Given the description of an element on the screen output the (x, y) to click on. 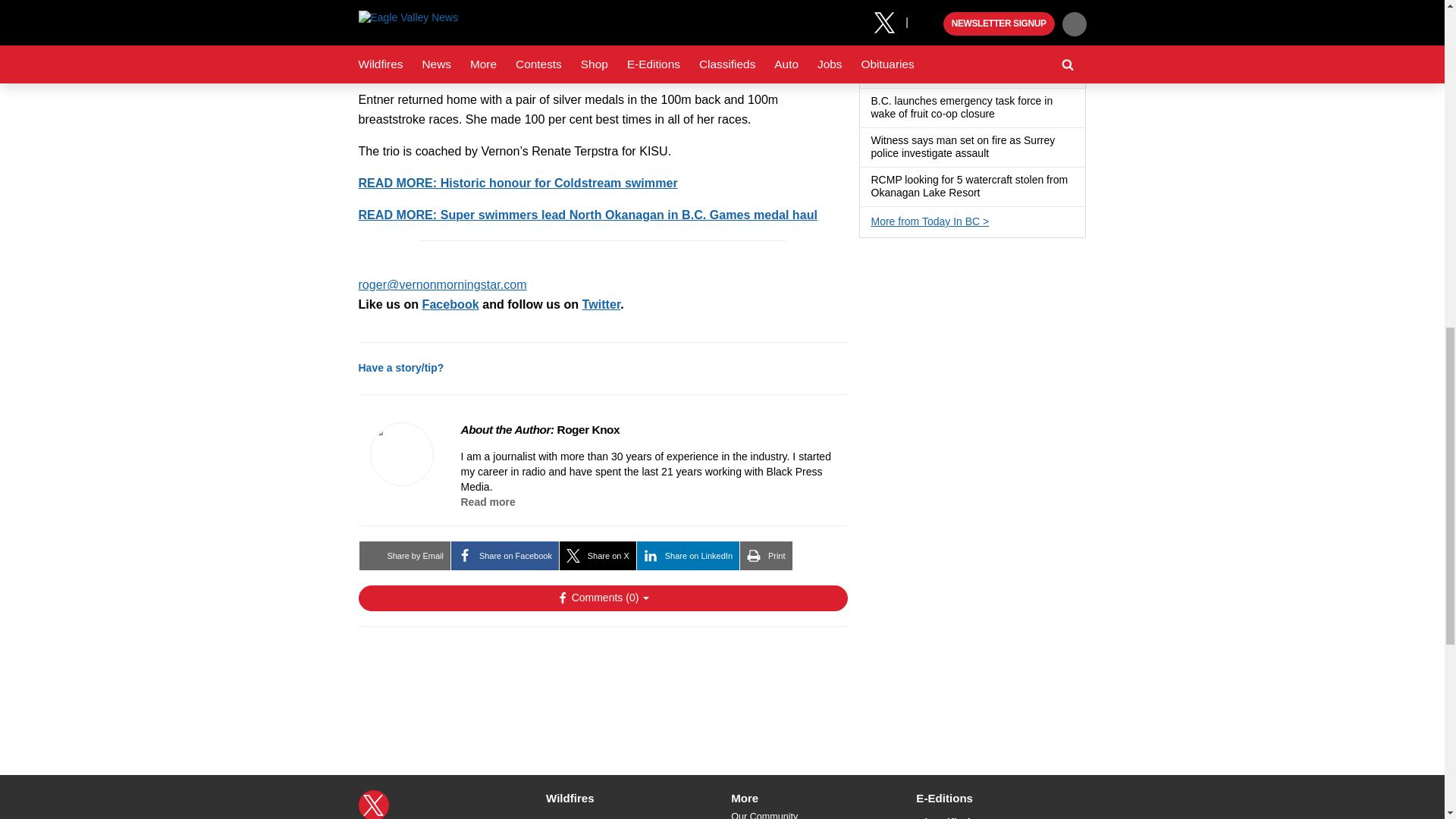
Show Comments (602, 597)
Has a gallery (988, 193)
Has a gallery (997, 153)
X (373, 804)
